Given the description of an element on the screen output the (x, y) to click on. 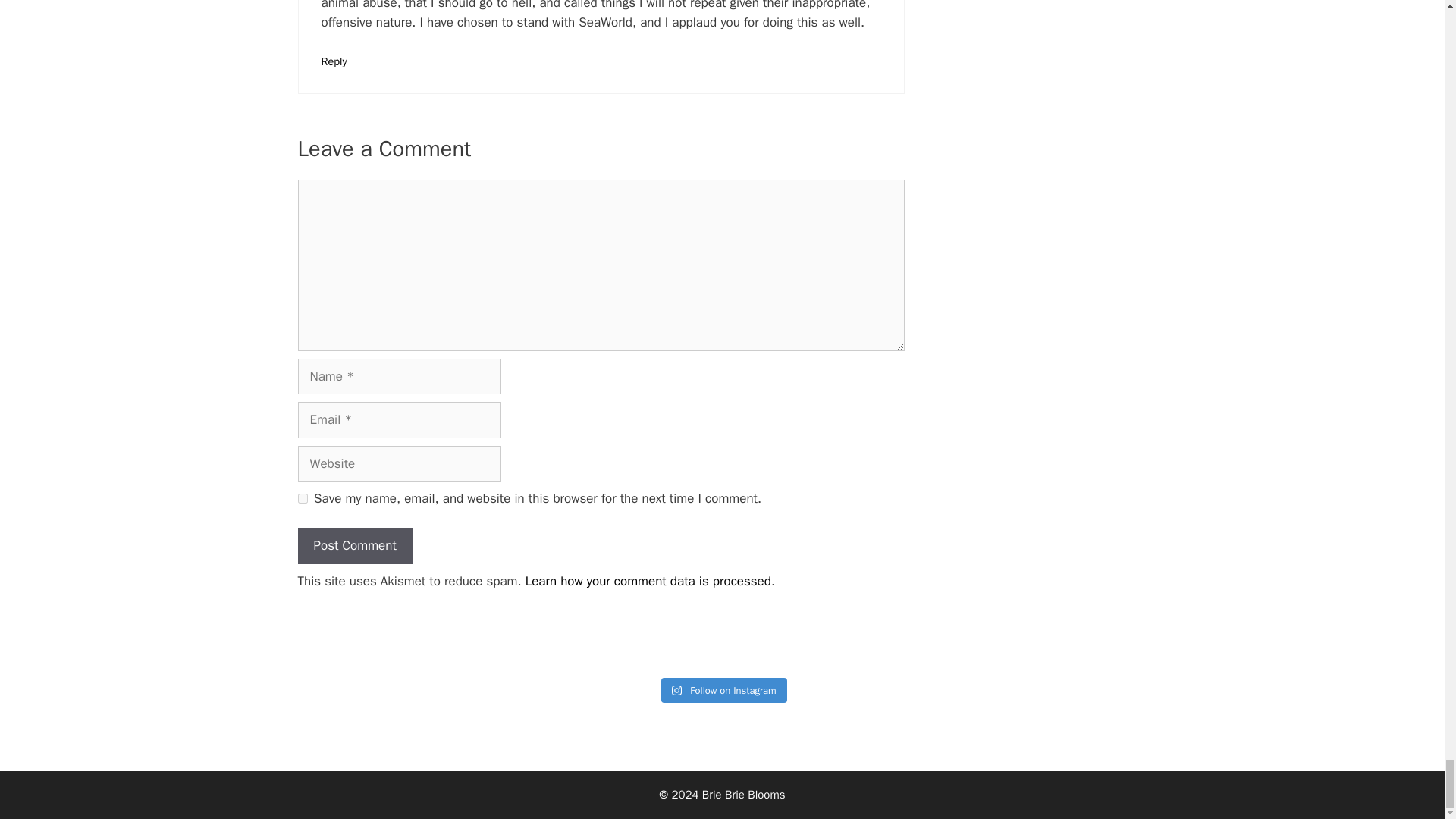
yes (302, 498)
Post Comment (354, 545)
